Given the description of an element on the screen output the (x, y) to click on. 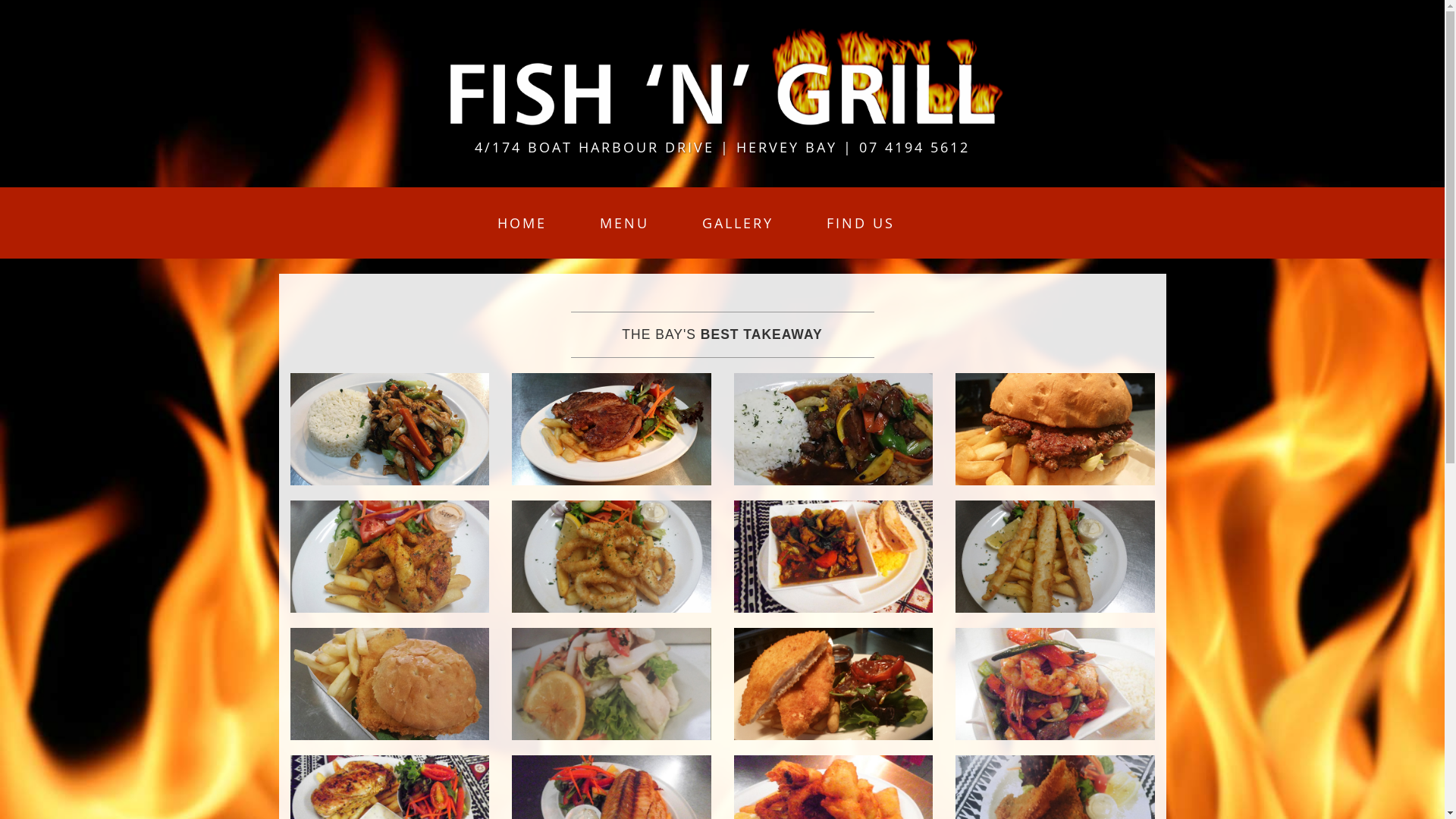
HOME Element type: text (521, 222)
4/174 BOAT HARBOUR DRIVE Element type: text (597, 147)
MENU Element type: text (624, 222)
FIND US Element type: text (859, 222)
GALLERY Element type: text (736, 222)
